Given the description of an element on the screen output the (x, y) to click on. 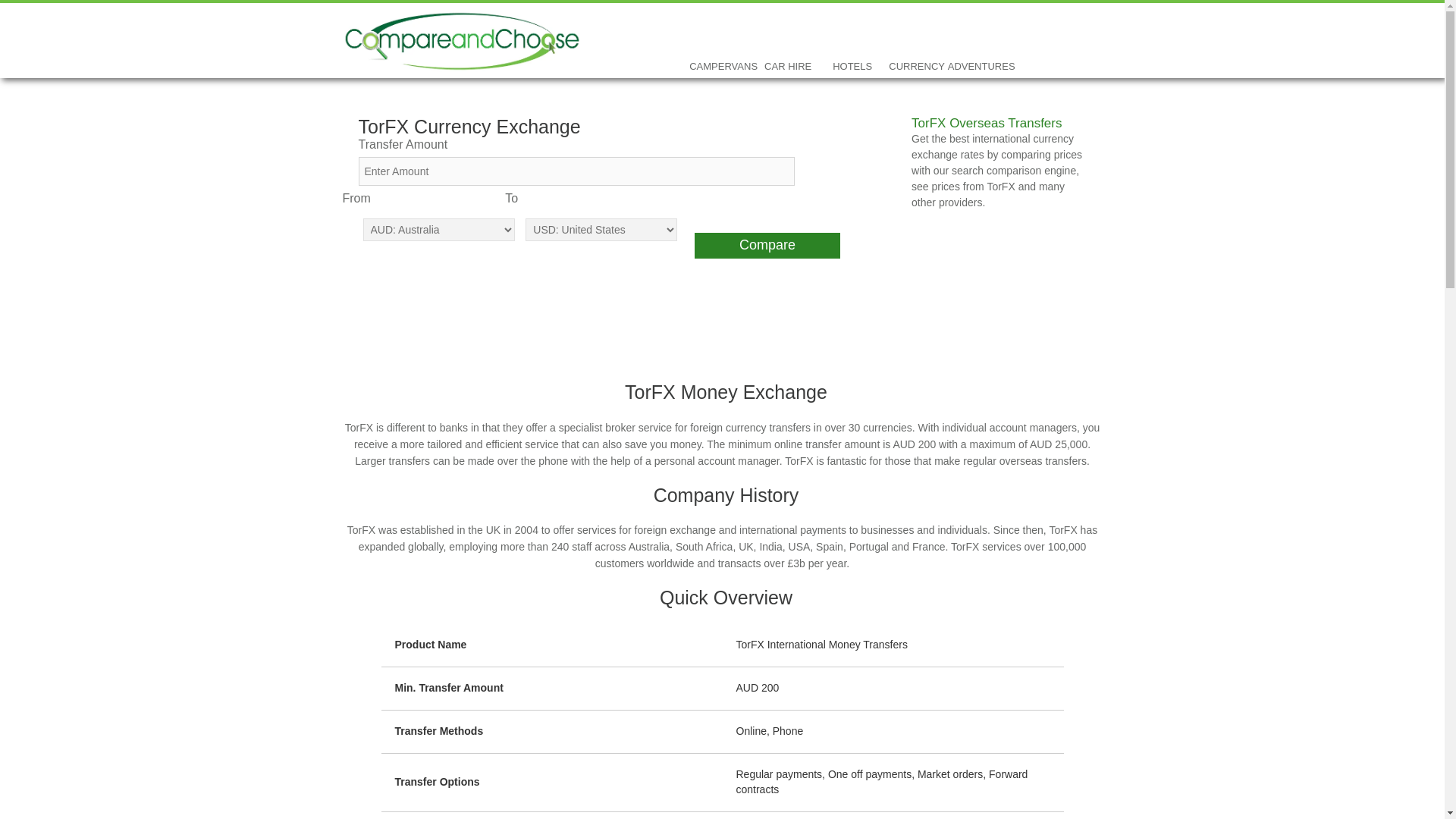
ADVENTURES (981, 34)
CAMPERVANS (723, 34)
Compare (767, 245)
CAR HIRE (788, 34)
HOTELS (852, 34)
CURRENCY (917, 34)
